Given the description of an element on the screen output the (x, y) to click on. 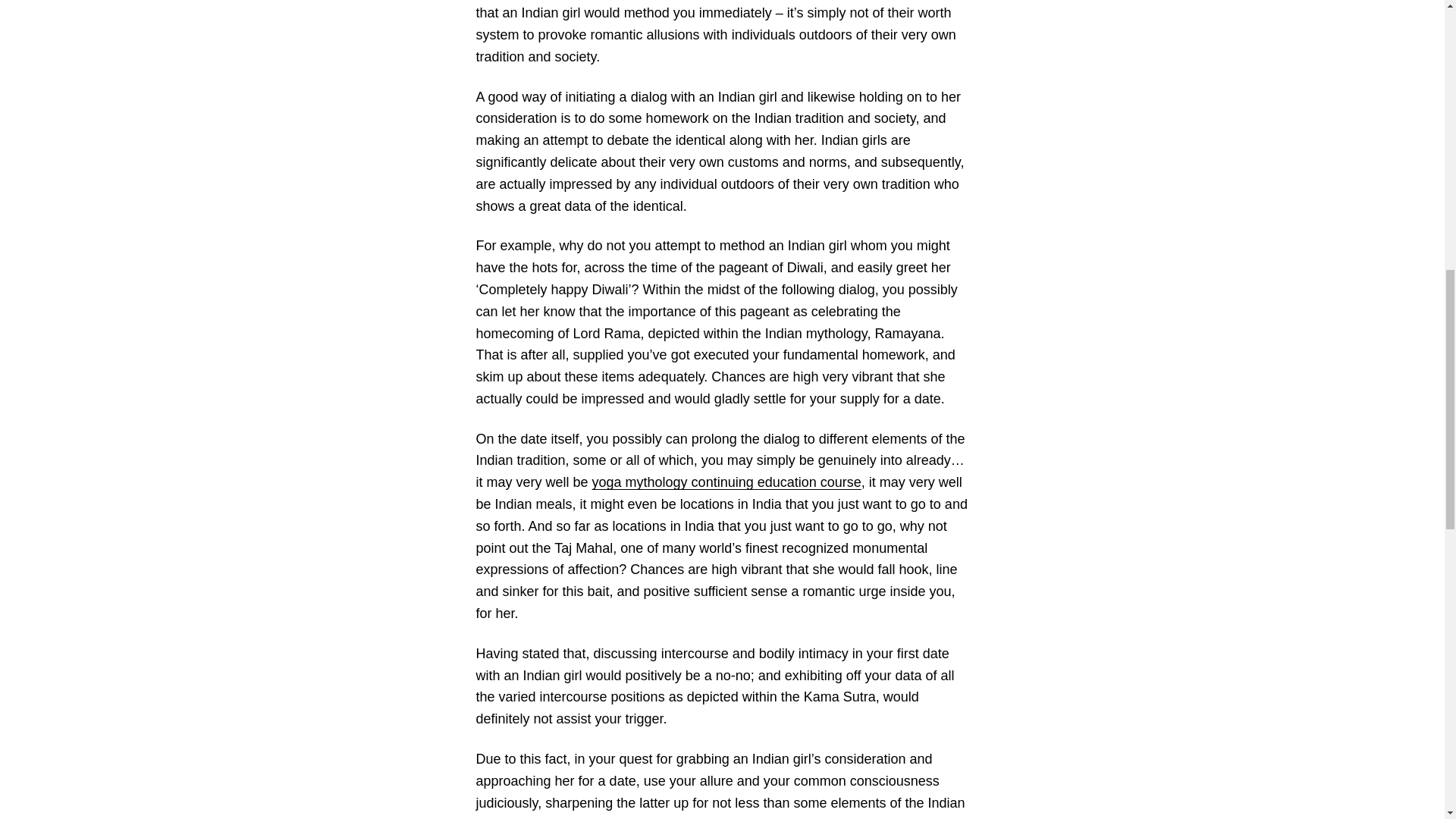
yoga mythology continuing education course (726, 482)
